Given the description of an element on the screen output the (x, y) to click on. 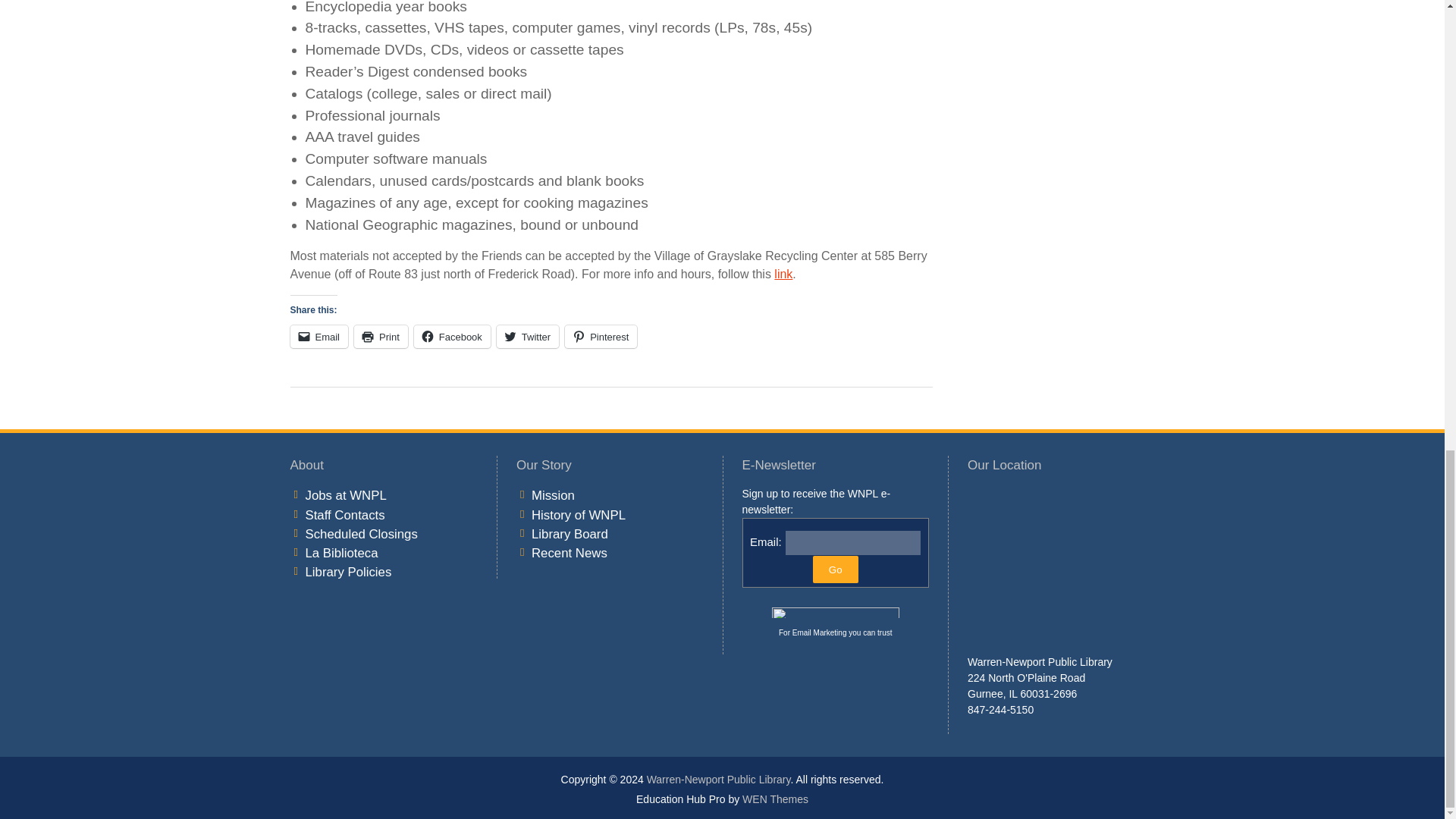
Go (835, 569)
Click to email a link to a friend (318, 336)
Google Map Embed (1061, 568)
Click to share on Twitter (527, 336)
Click to share on Pinterest (600, 336)
Click to print (380, 336)
Click to share on Facebook (451, 336)
